Given the description of an element on the screen output the (x, y) to click on. 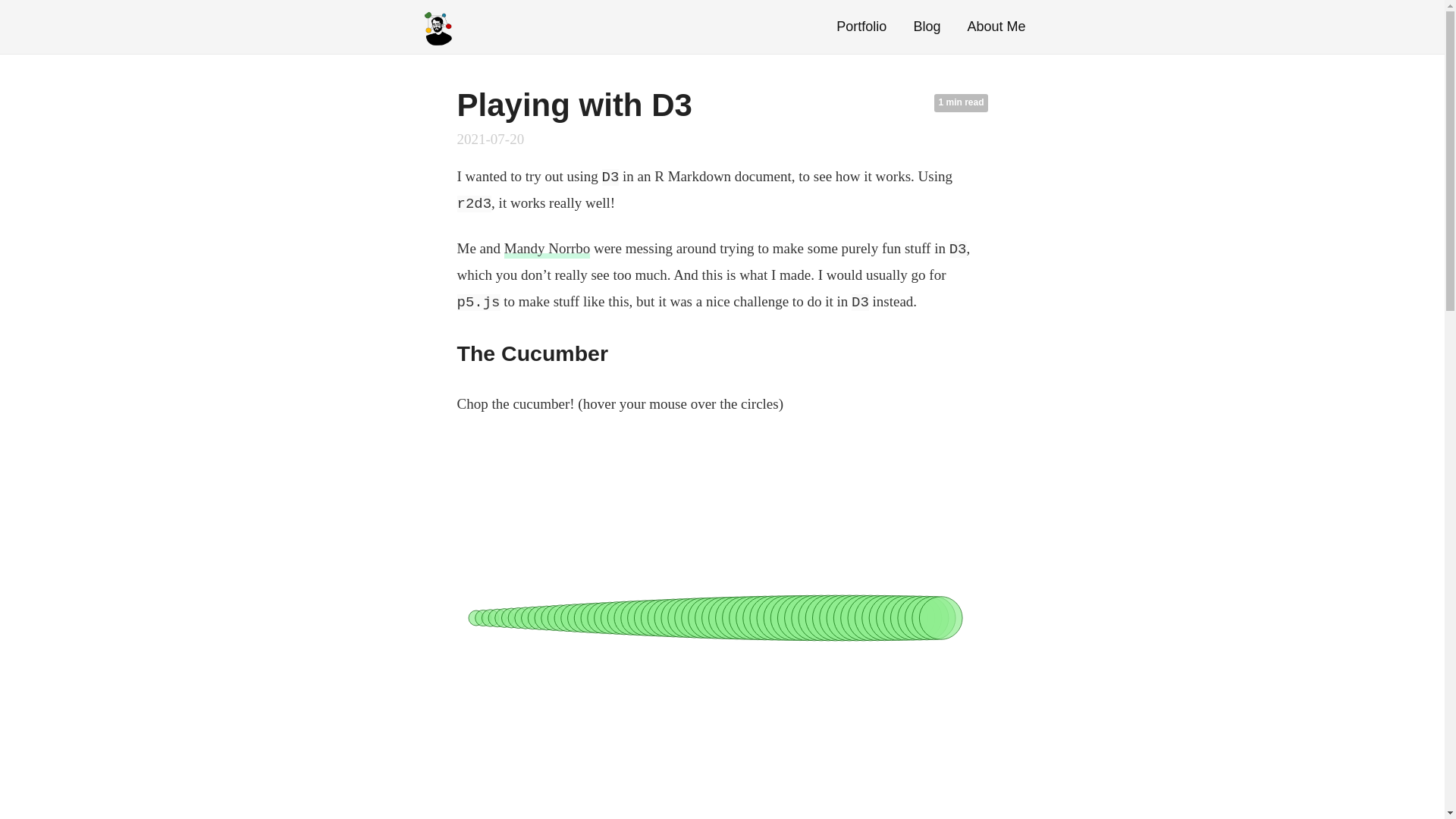
Blog (926, 26)
About Me (995, 26)
Mandy Norrbo (546, 249)
Portfolio (860, 26)
